Given the description of an element on the screen output the (x, y) to click on. 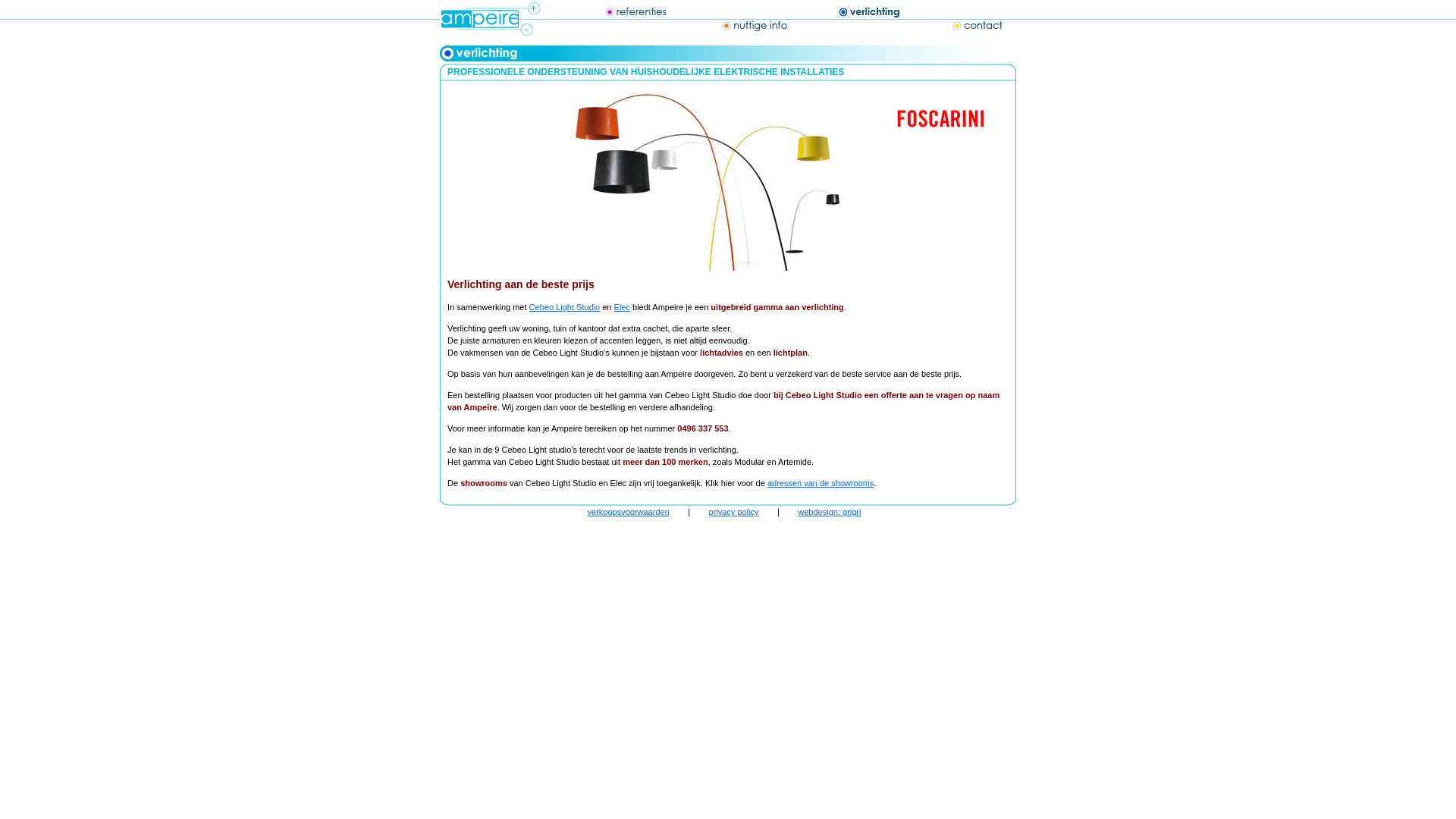
contact Element type: hover (952, 17)
verkoopsvoorwaarden Element type: text (628, 511)
webdesign: grigri Element type: text (828, 511)
info Element type: hover (729, 17)
Elec Element type: text (622, 306)
Cebeo Light Studio Element type: text (564, 306)
AMPEIRE Element type: hover (492, 17)
referenties Element type: hover (608, 9)
privacy policy Element type: text (734, 511)
verlichting Element type: hover (844, 9)
adressen van de showrooms Element type: text (820, 482)
